Given the description of an element on the screen output the (x, y) to click on. 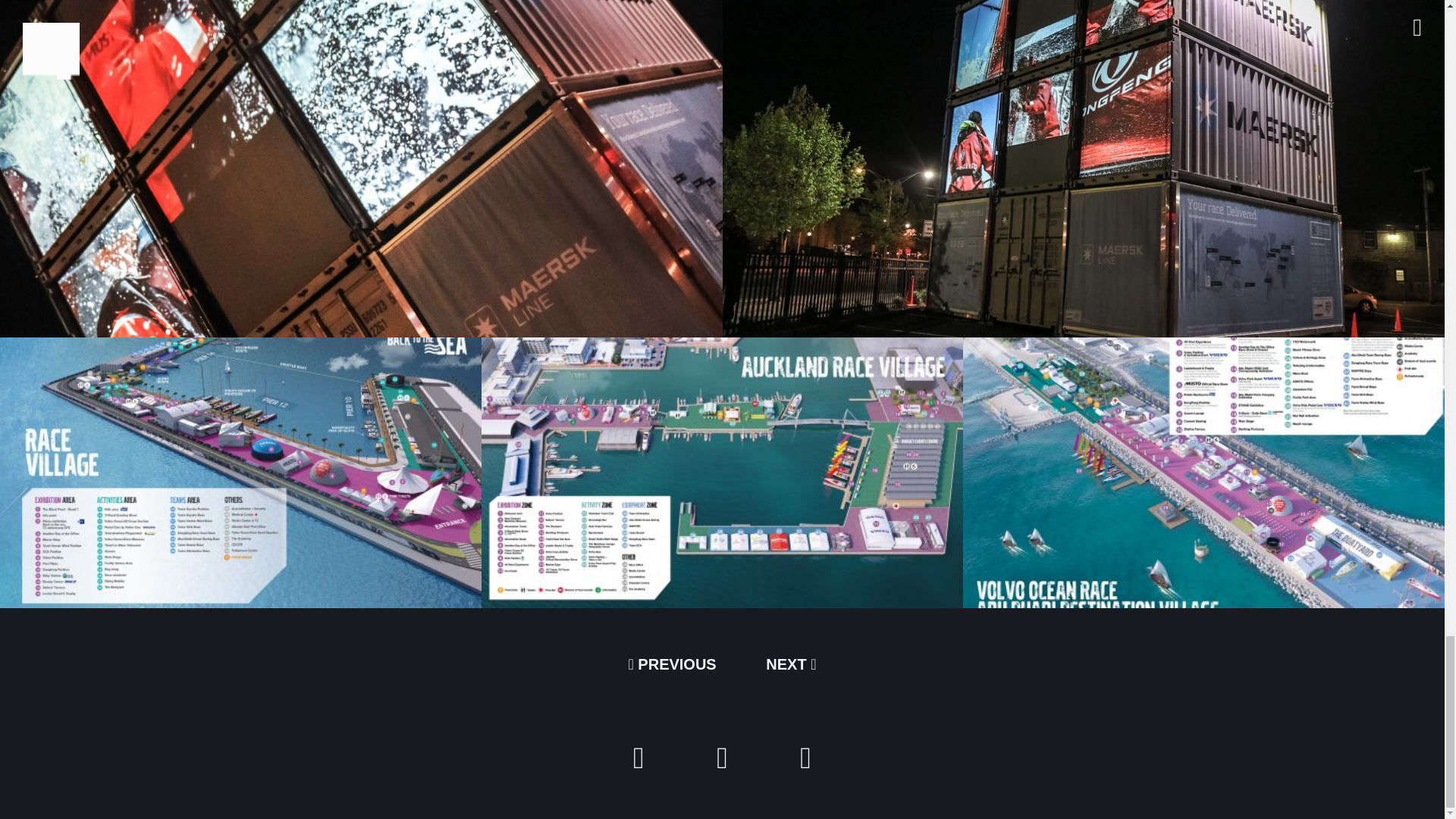
NEXT (790, 664)
PREVIOUS (671, 664)
